Given the description of an element on the screen output the (x, y) to click on. 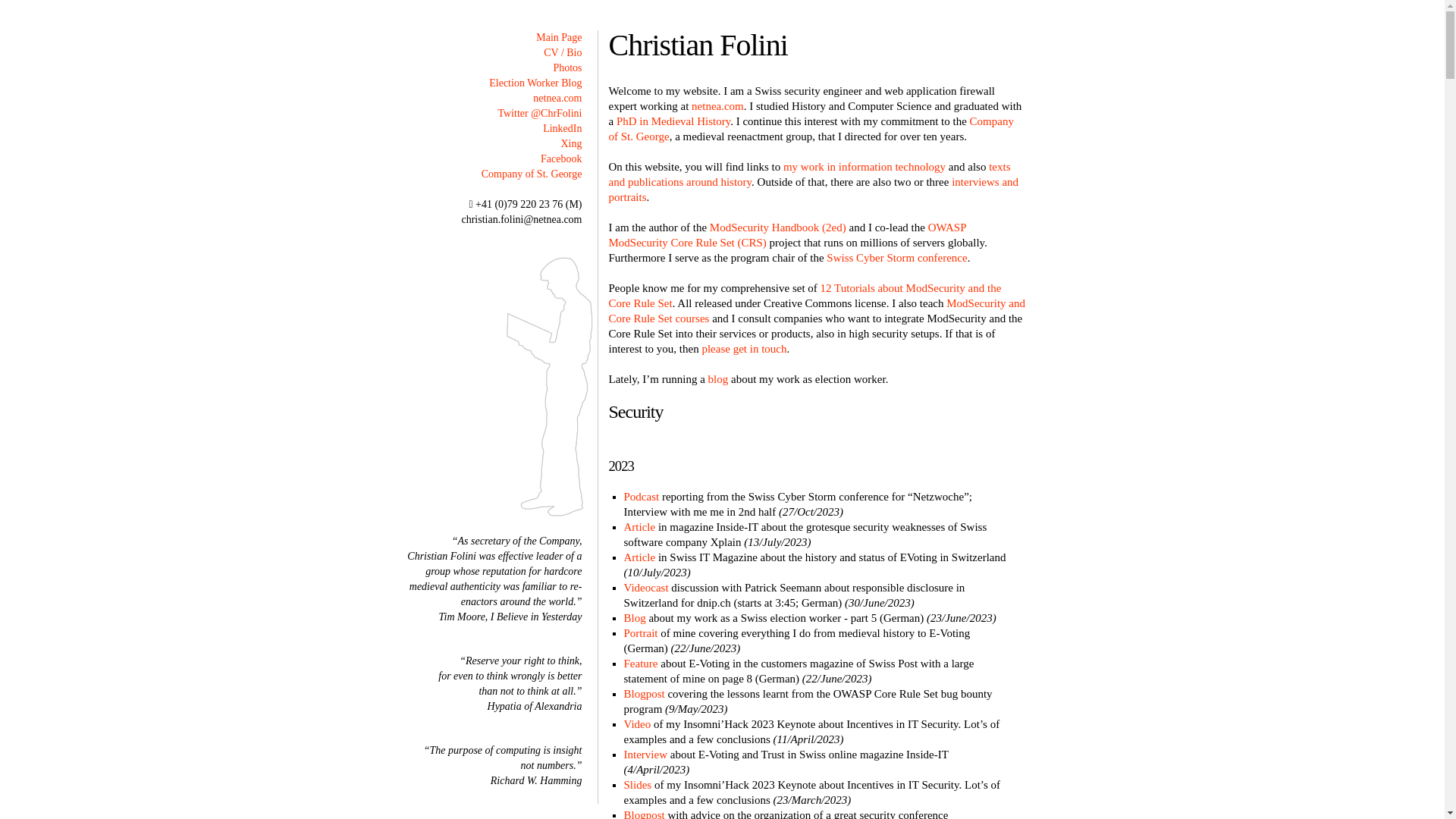
interviews and portraits Element type: text (813, 189)
my work in information technology Element type: text (864, 166)
OWASP ModSecurity Core Rule Set (CRS) Element type: text (786, 234)
Swiss Cyber Storm conference Element type: text (896, 257)
Interview Element type: text (644, 754)
PhD in Medieval History Element type: text (673, 121)
12 Tutorials about ModSecurity and the Core Rule Set Element type: text (804, 295)
Facebook Element type: text (560, 158)
netnea.com Element type: text (557, 97)
Main Page Element type: text (558, 37)
Slides Element type: text (637, 784)
Twitter @ChrFolini Element type: text (539, 113)
Xing Element type: text (571, 143)
Videocast Element type: text (645, 587)
Photos Element type: text (566, 67)
ModSecurity and Core Rule Set courses Element type: text (816, 310)
please get in touch Element type: text (743, 348)
blog Element type: text (718, 379)
netnea.com Element type: text (717, 106)
Feature Element type: text (640, 663)
ModSecurity Handbook (2ed) Element type: text (777, 227)
Video Element type: text (636, 724)
Company of St. George Element type: text (531, 173)
Company of St. George Element type: text (810, 128)
Article Element type: text (639, 526)
Election Worker Blog Element type: text (535, 82)
CV / Bio Element type: text (562, 52)
Blogpost Element type: text (643, 693)
Blog Element type: text (634, 617)
Portrait Element type: text (640, 633)
Article Element type: text (639, 557)
Security Element type: text (635, 411)
texts and publications around history Element type: text (809, 174)
LinkedIn Element type: text (561, 128)
Podcast Element type: text (640, 496)
